Given the description of an element on the screen output the (x, y) to click on. 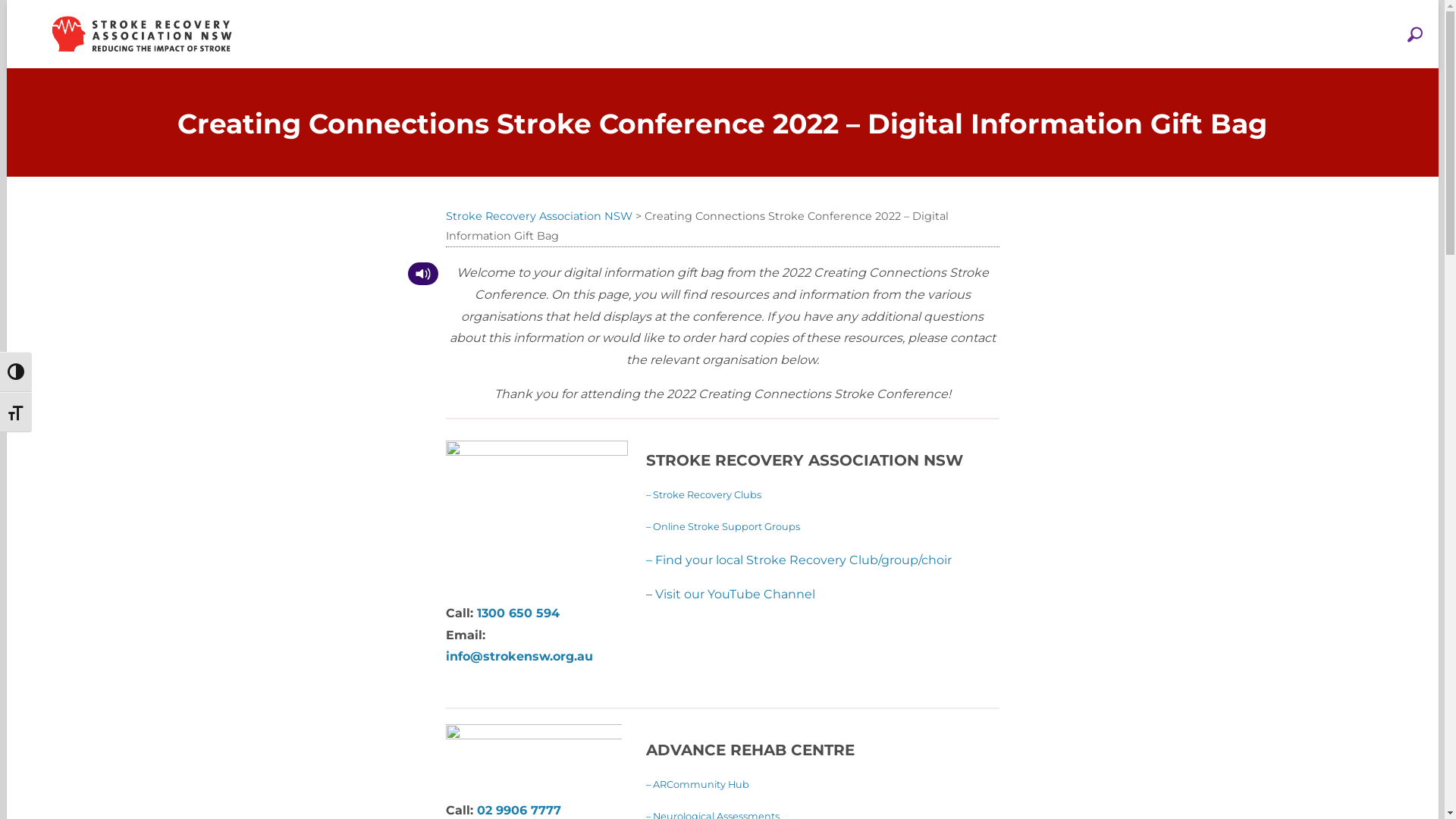
Visit our YouTube Channel Element type: text (735, 593)
Toggle Font size Element type: text (15, 412)
Stroke Recovery Association NSW Element type: text (538, 215)
Toggle High Contrast Element type: text (15, 371)
1300 650 594 Element type: text (517, 612)
info@strokensw.org.au Element type: text (519, 656)
02 9906 7777 Element type: text (518, 810)
Read Content Element type: hover (422, 273)
